Given the description of an element on the screen output the (x, y) to click on. 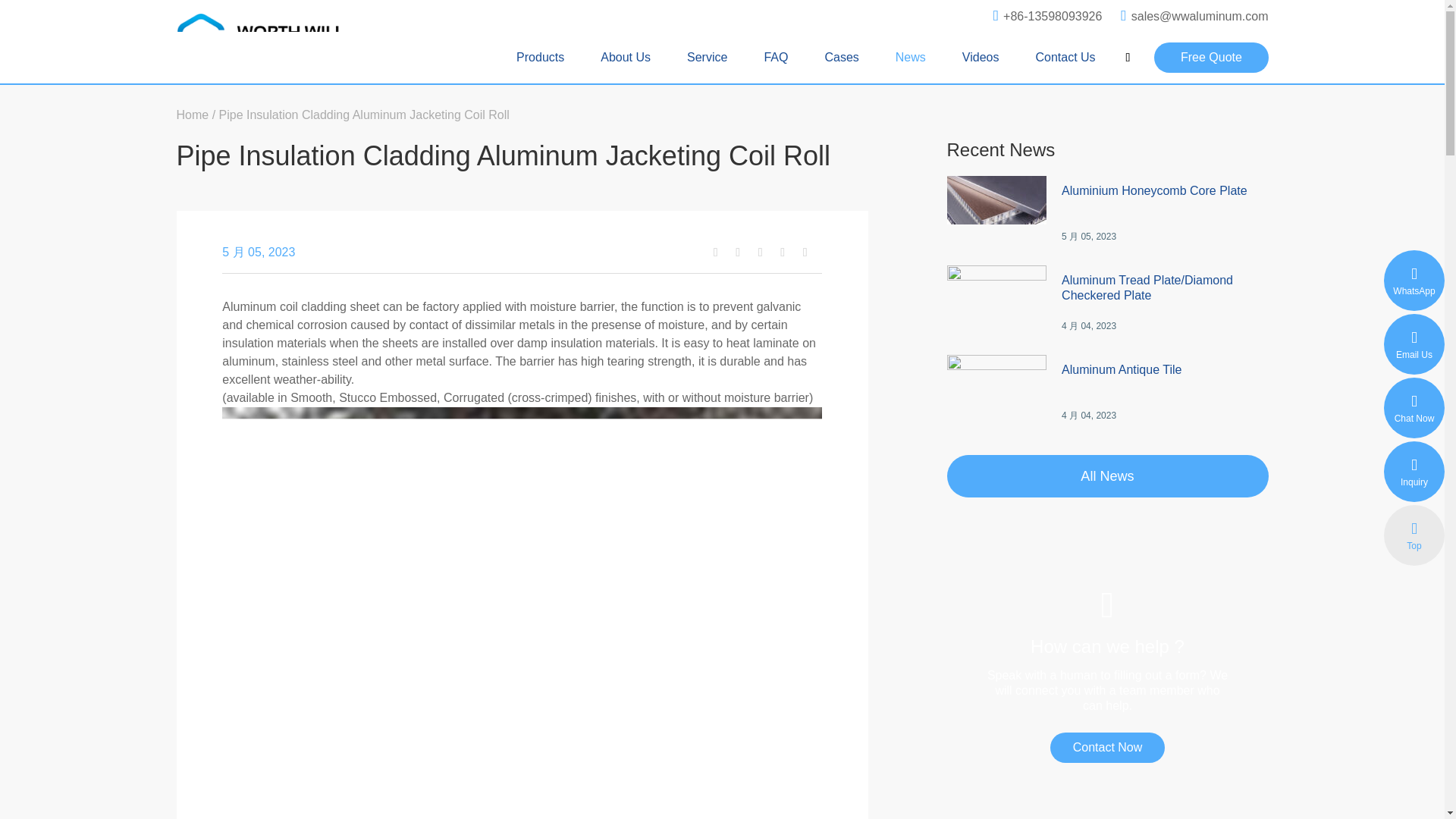
Products (540, 57)
Aluminum Antique Tile (1164, 384)
Aluminium Honeycomb Core Plate (1164, 206)
